Given the description of an element on the screen output the (x, y) to click on. 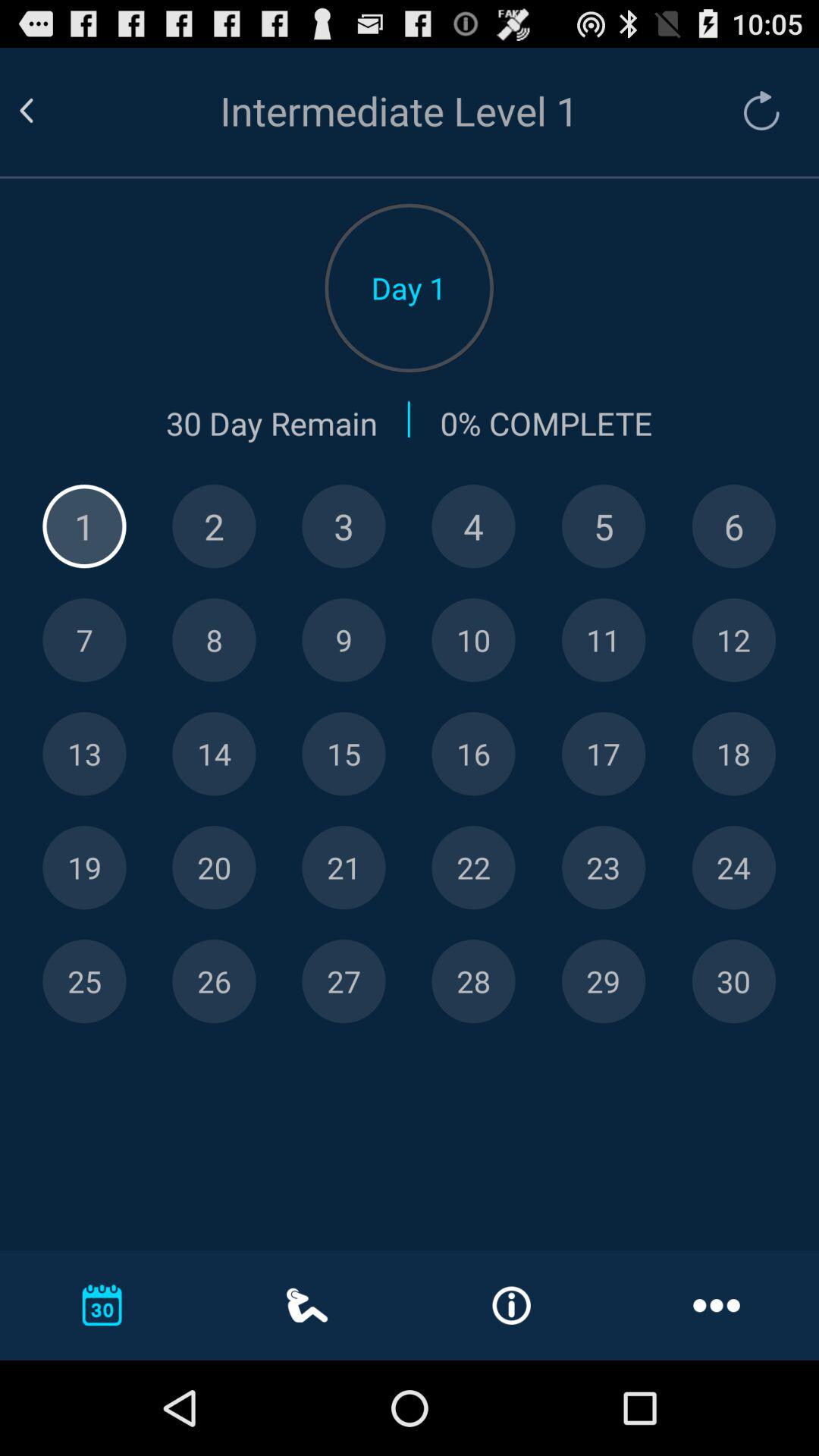
enter 9 (343, 639)
